Given the description of an element on the screen output the (x, y) to click on. 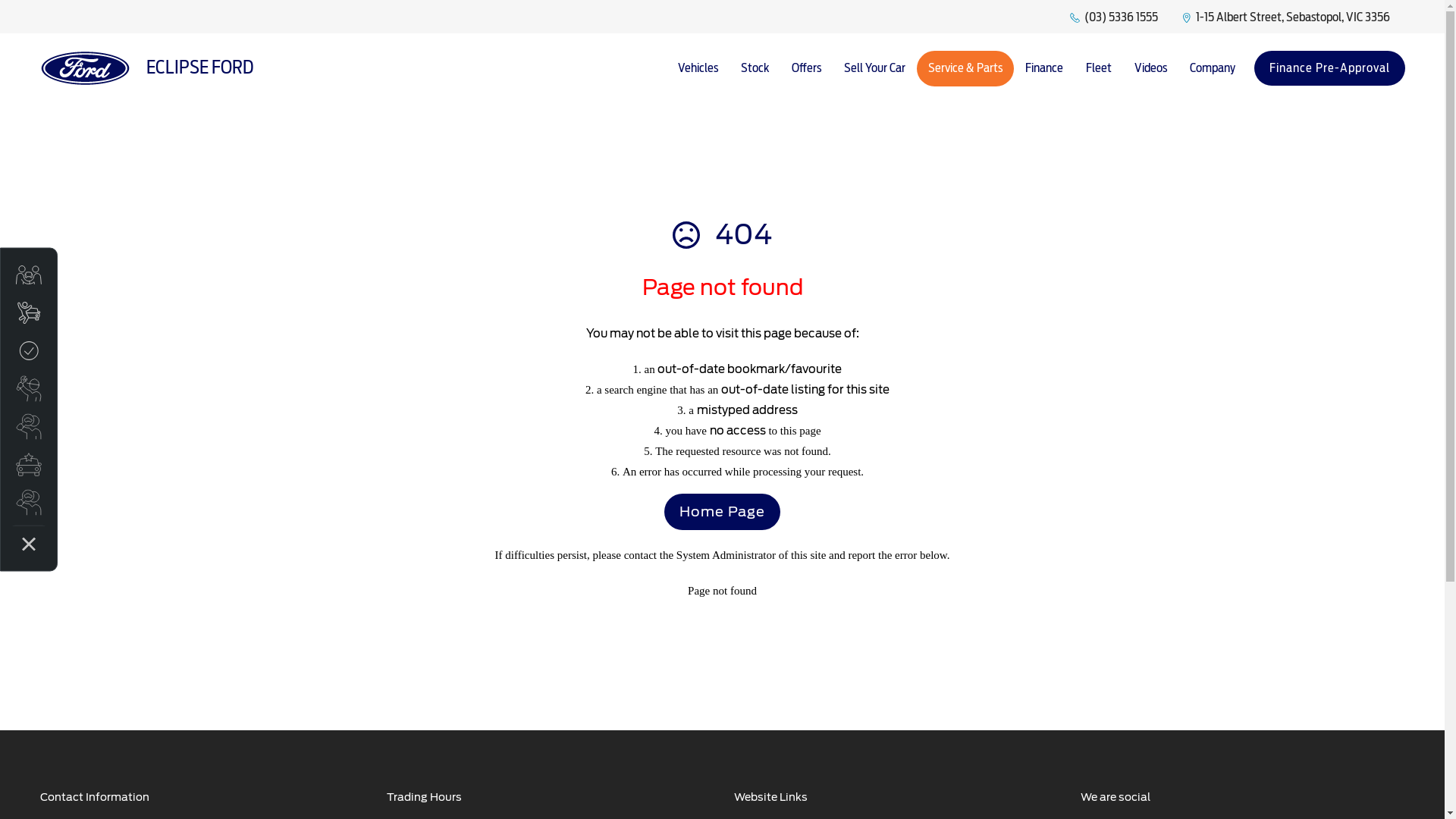
Company Element type: text (1212, 67)
1-15 Albert Street, Sebastopol, VIC 3356 Element type: text (1292, 17)
Home Page Element type: text (722, 511)
Offers Element type: text (805, 67)
Service & Parts Element type: text (964, 67)
(03) 5336 1555 Element type: text (1120, 17)
Stock Element type: text (754, 67)
Fleet Element type: text (1097, 67)
Finance Element type: text (1043, 67)
Videos Element type: text (1149, 67)
ECLIPSE FORD Element type: text (145, 68)
Finance Pre-Approval Element type: text (1329, 67)
Vehicles Element type: text (696, 67)
Sell Your Car Element type: text (874, 67)
